Given the description of an element on the screen output the (x, y) to click on. 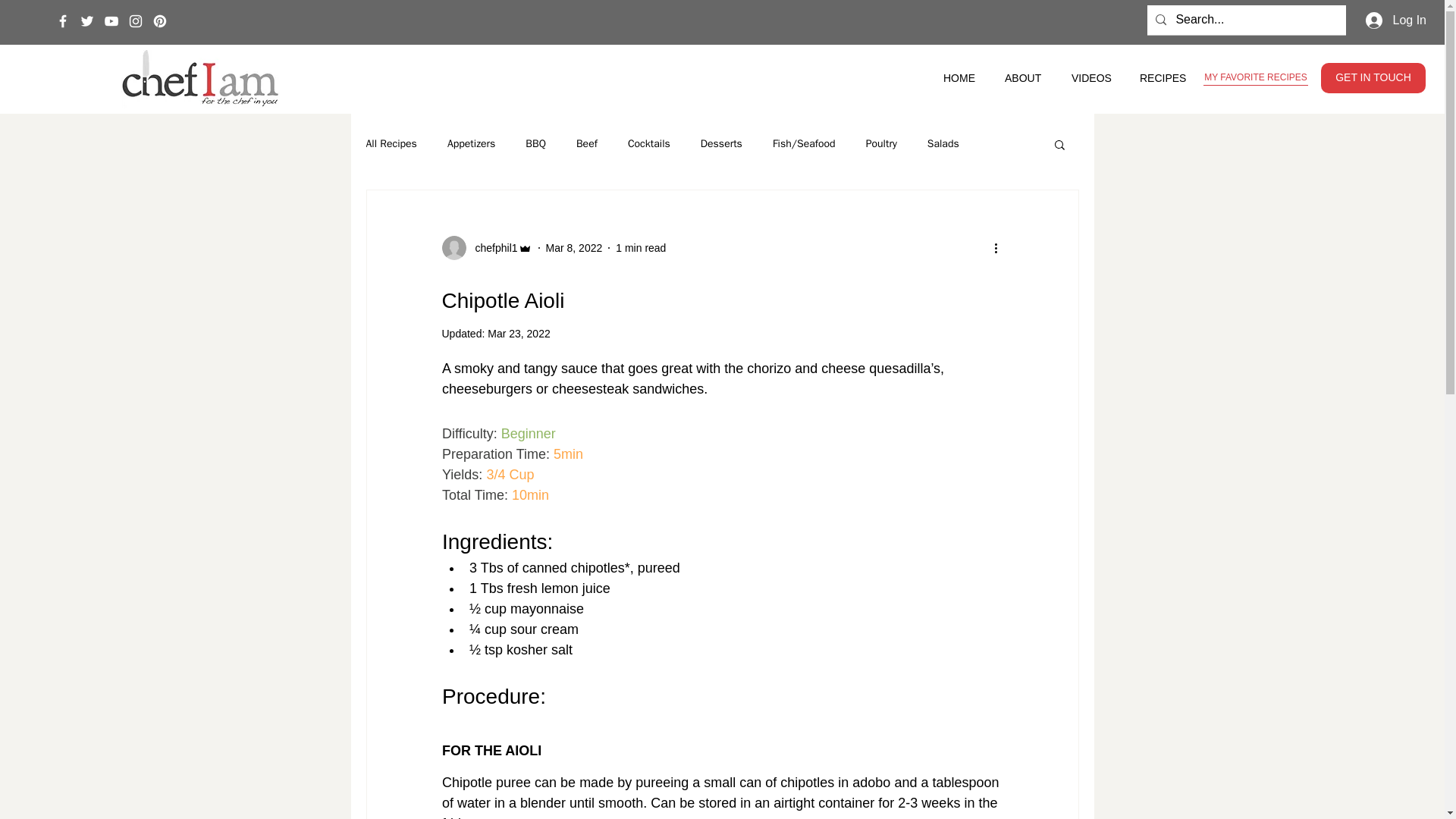
Poultry (881, 143)
ABOUT (1025, 77)
HOME (961, 77)
Desserts (721, 143)
Log In (1396, 20)
Appetizers (470, 143)
1 min read (640, 246)
Salads (943, 143)
GET IN TOUCH (1372, 78)
RECIPES (1164, 77)
